Given the description of an element on the screen output the (x, y) to click on. 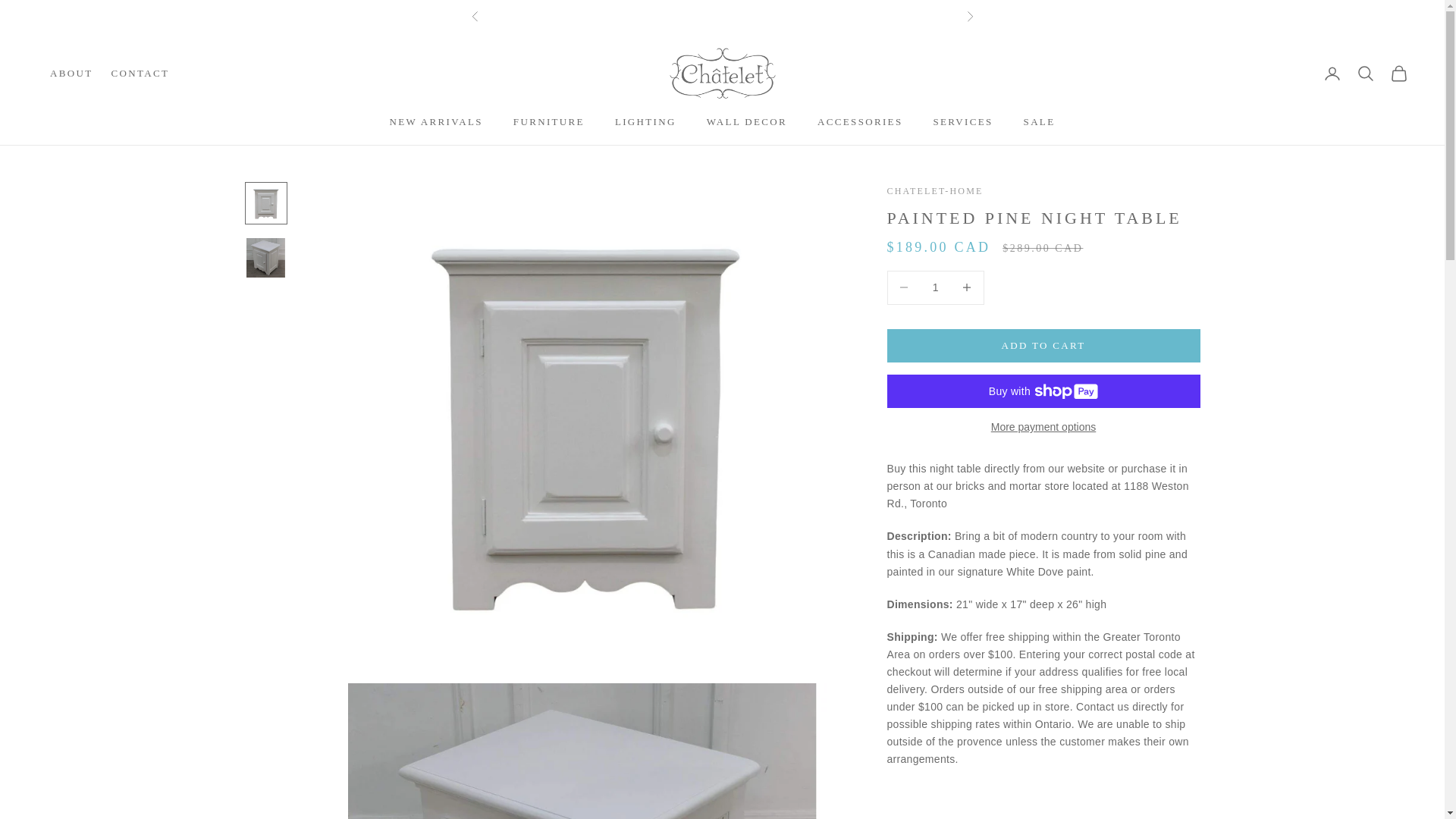
Previous (474, 16)
Next (968, 16)
1 (935, 287)
Chatelet-Home (721, 73)
NEW ARRIVALS (436, 121)
